Given the description of an element on the screen output the (x, y) to click on. 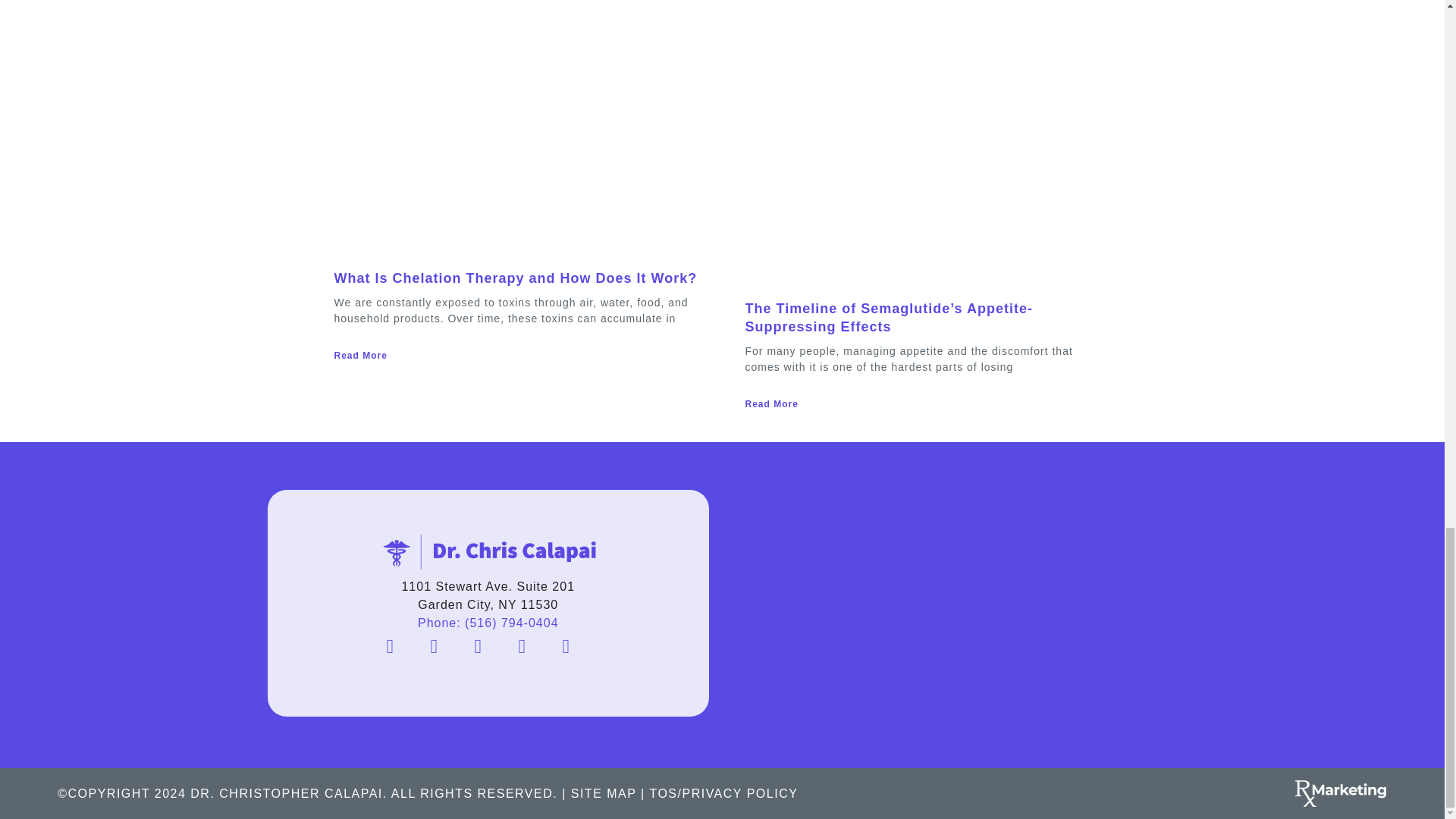
Google Map to Garden City Location (956, 603)
